Given the description of an element on the screen output the (x, y) to click on. 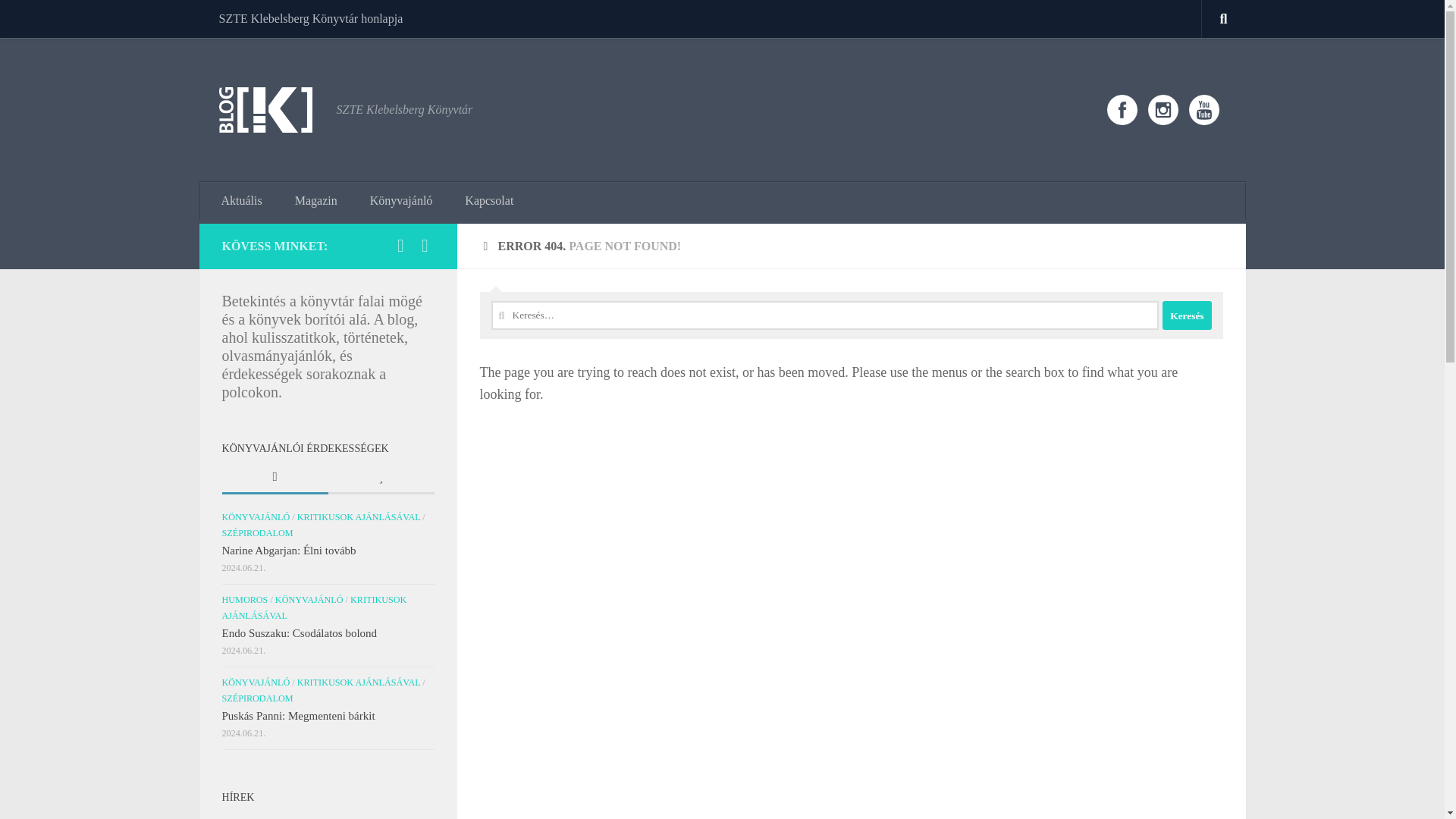
Skip to content (59, 20)
Kapcsolat (489, 200)
HUMOROS (244, 599)
Magazin (315, 200)
RSS csatorna. (423, 245)
